Given the description of an element on the screen output the (x, y) to click on. 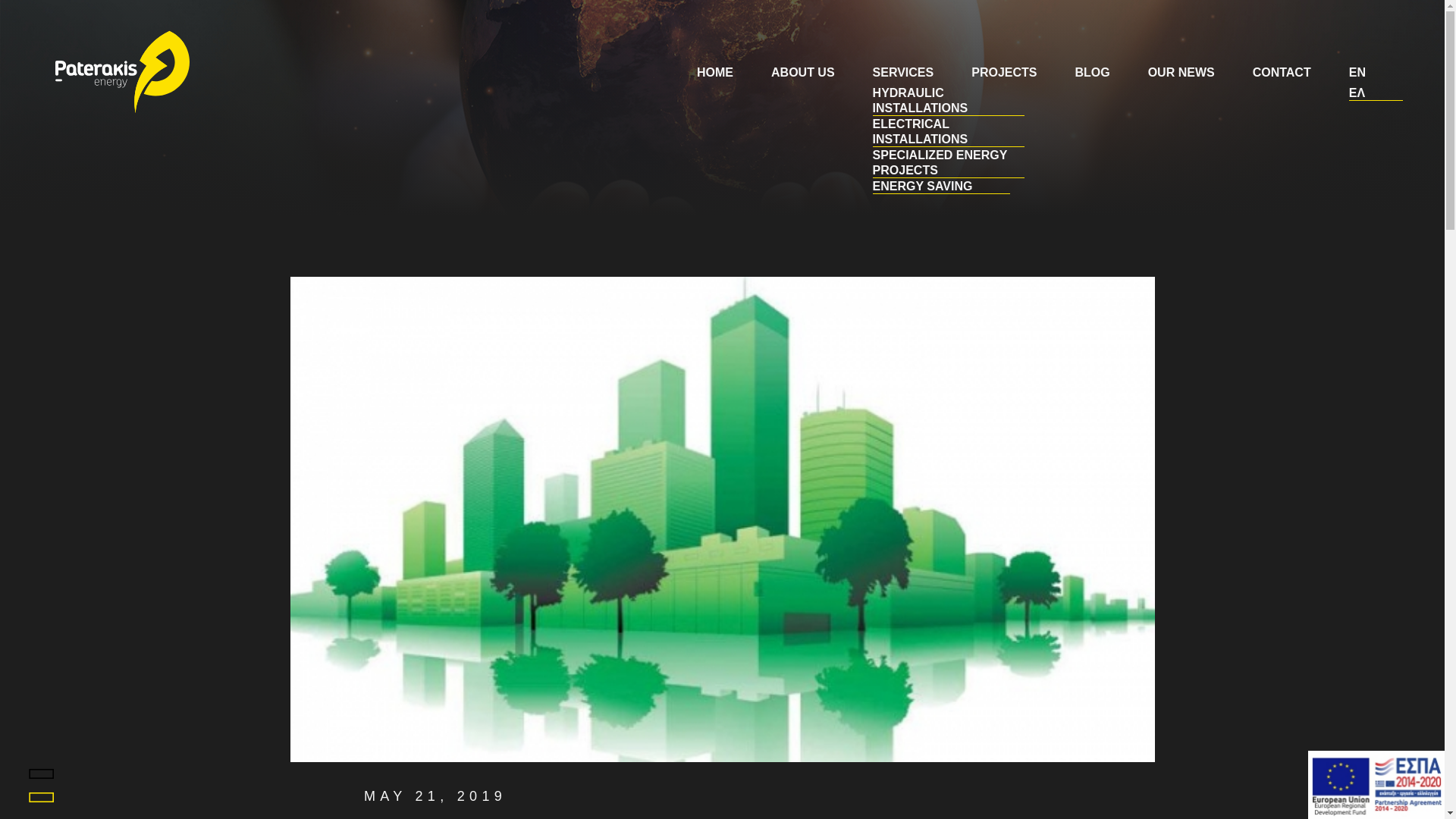
ELECTRICAL INSTALLATIONS (920, 131)
SERVICES (903, 72)
SPECIALIZED ENERGY PROJECTS (939, 162)
OUR NEWS (1181, 72)
BLOG (1091, 72)
PROJECTS (1003, 72)
HOME (715, 72)
ABOUT US (802, 72)
ENERGY SAVING (922, 185)
CONTACT (1281, 72)
